Given the description of an element on the screen output the (x, y) to click on. 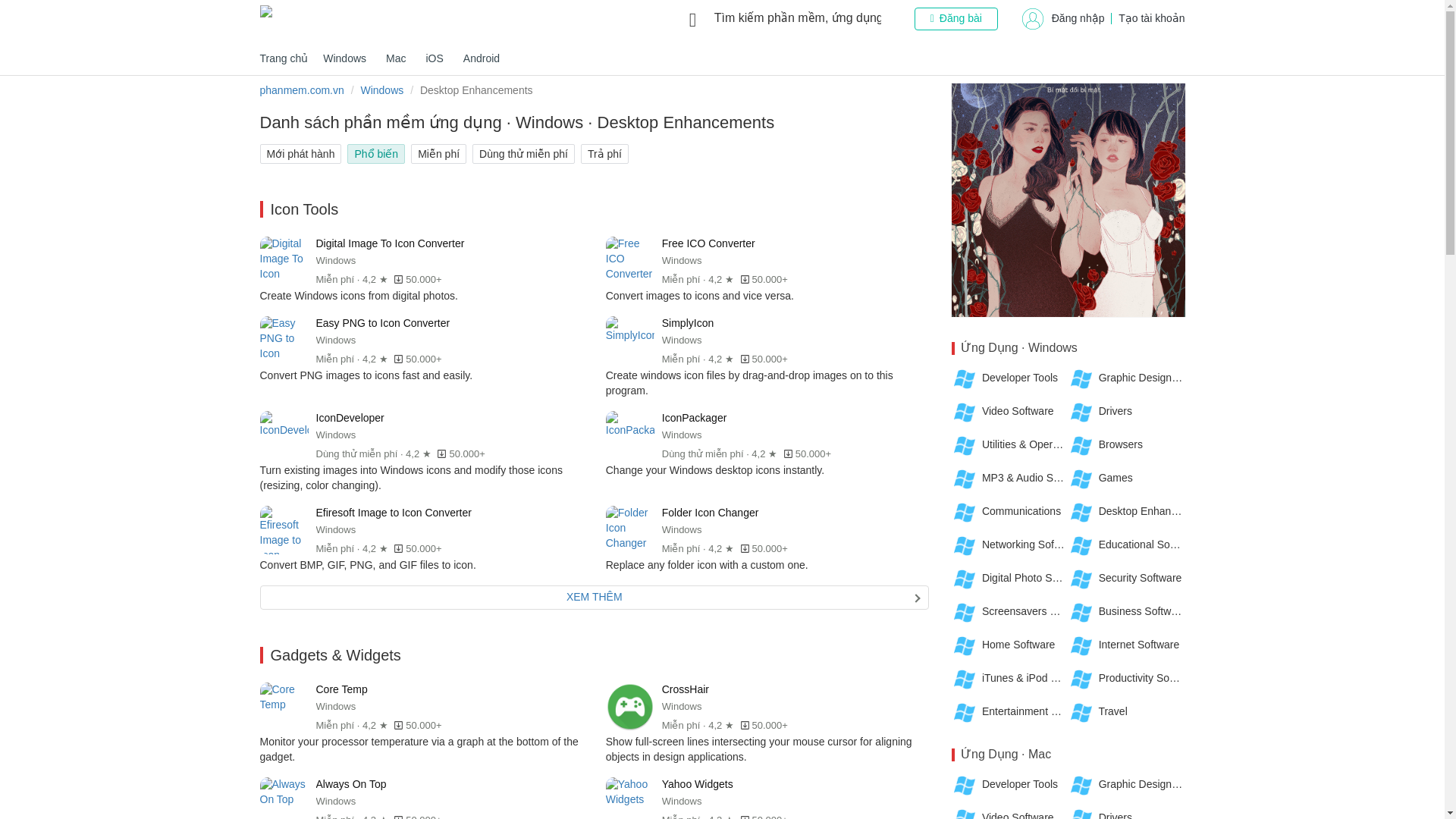
CrossHair (758, 748)
Digital Image To Icon Converter (358, 295)
Easy PNG to Icon Converter (365, 375)
Efiresoft Image to Icon Converter (367, 564)
IconDeveloper (410, 477)
SimplyIcon (749, 382)
Folder Icon Changer (706, 564)
Free ICO Converter (699, 295)
Core Temp (418, 748)
IconPackager (714, 469)
